Given the description of an element on the screen output the (x, y) to click on. 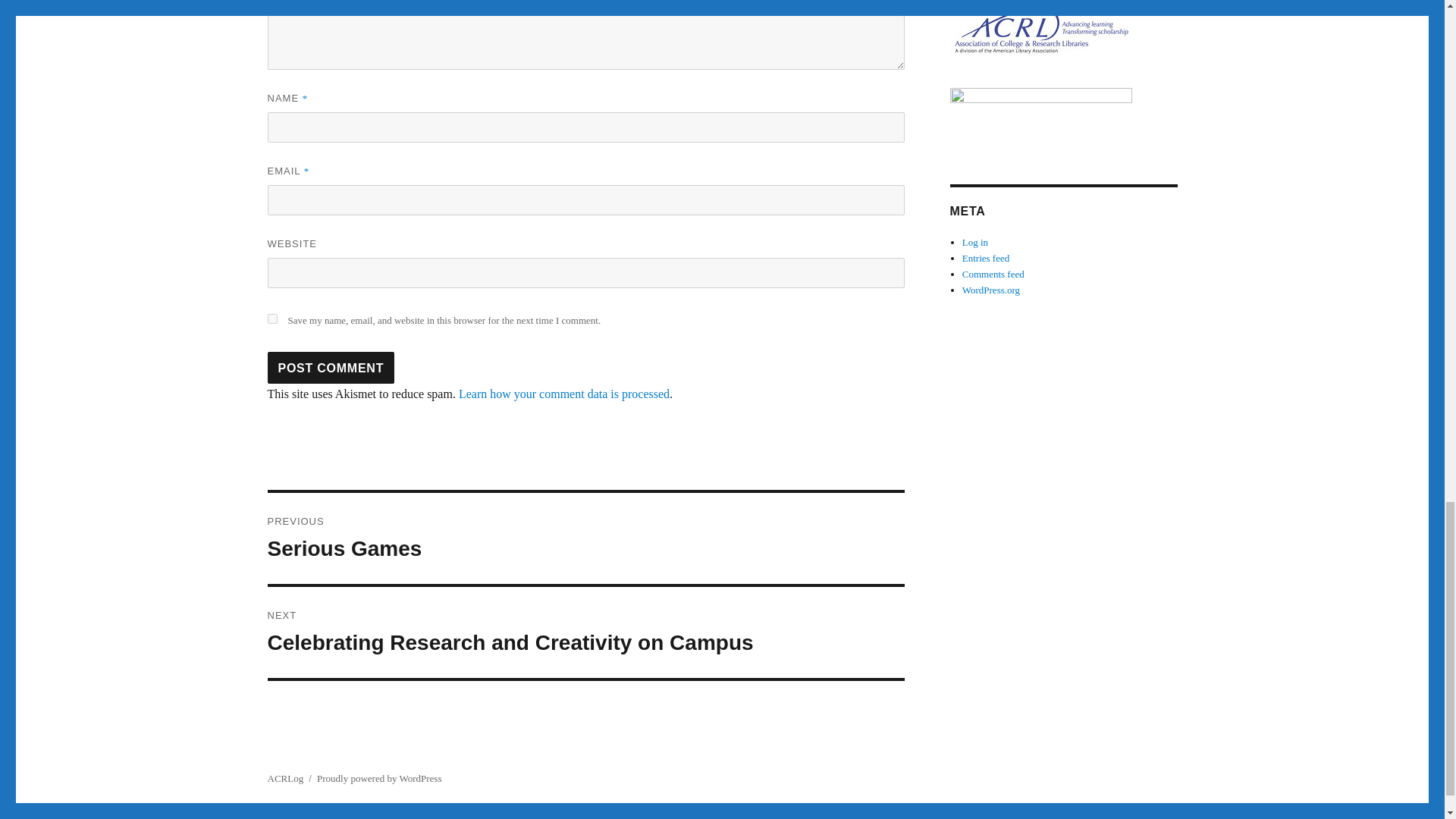
yes (585, 538)
Post Comment (271, 318)
Post Comment (330, 368)
Learn how your comment data is processed (330, 368)
